Given the description of an element on the screen output the (x, y) to click on. 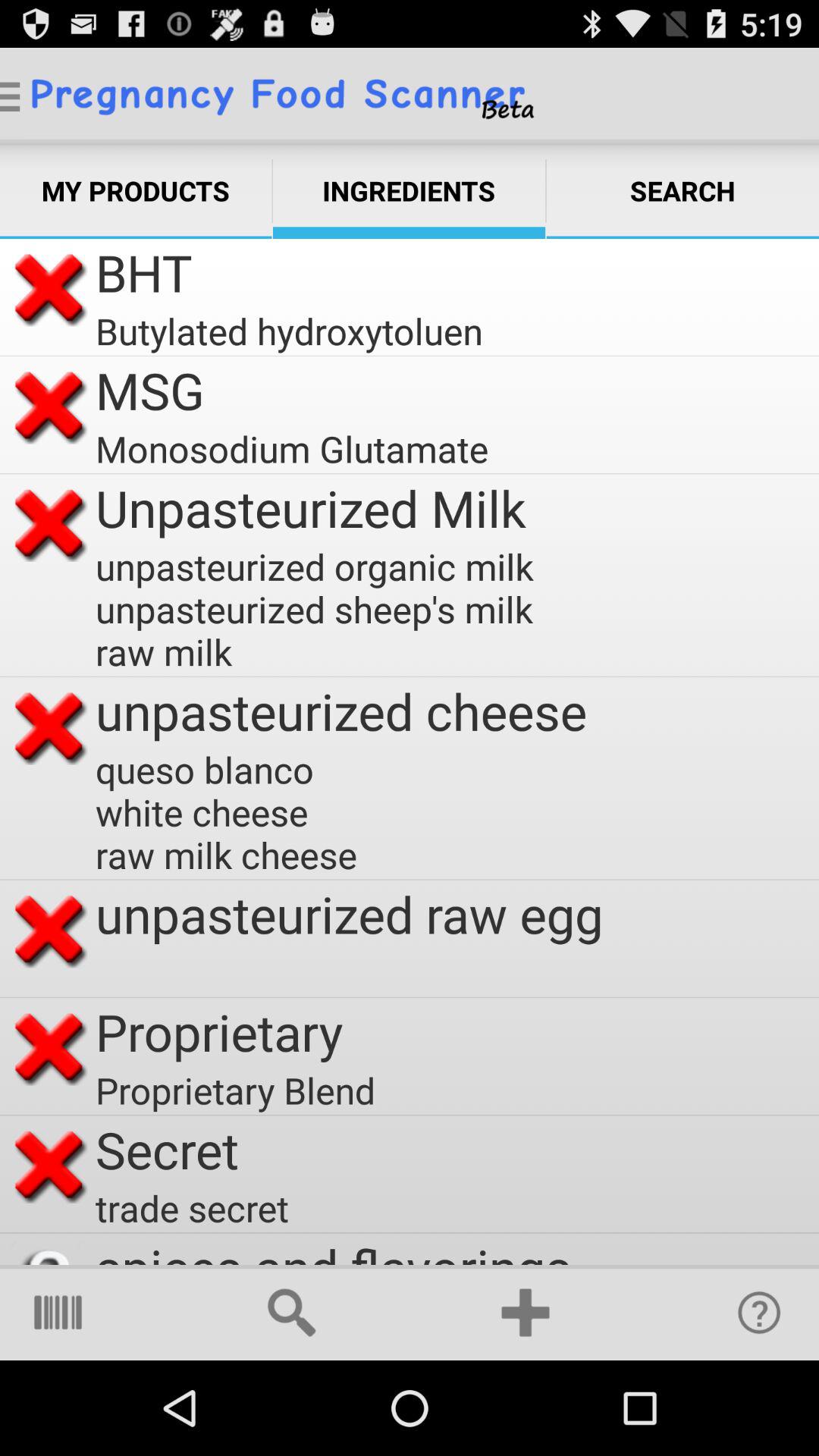
launch the item above the queso blanco white item (340, 711)
